Given the description of an element on the screen output the (x, y) to click on. 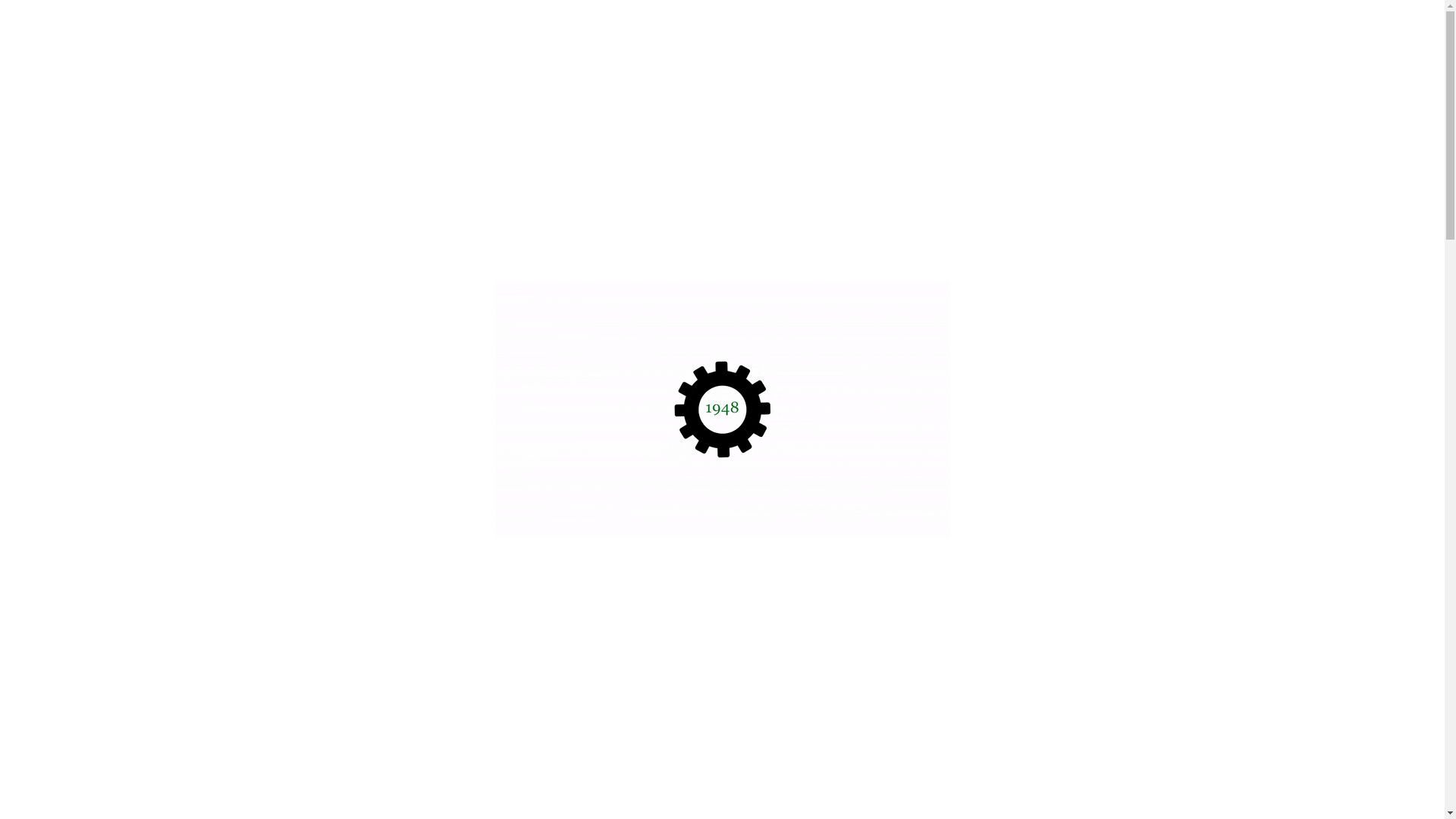
REGISTER (1011, 32)
EVENTS (765, 32)
HOME (716, 32)
VOLUNTEER (1162, 32)
MEMORIALS (829, 32)
LOG IN (1224, 32)
Menu (1413, 32)
CONTACT (1093, 32)
